Given the description of an element on the screen output the (x, y) to click on. 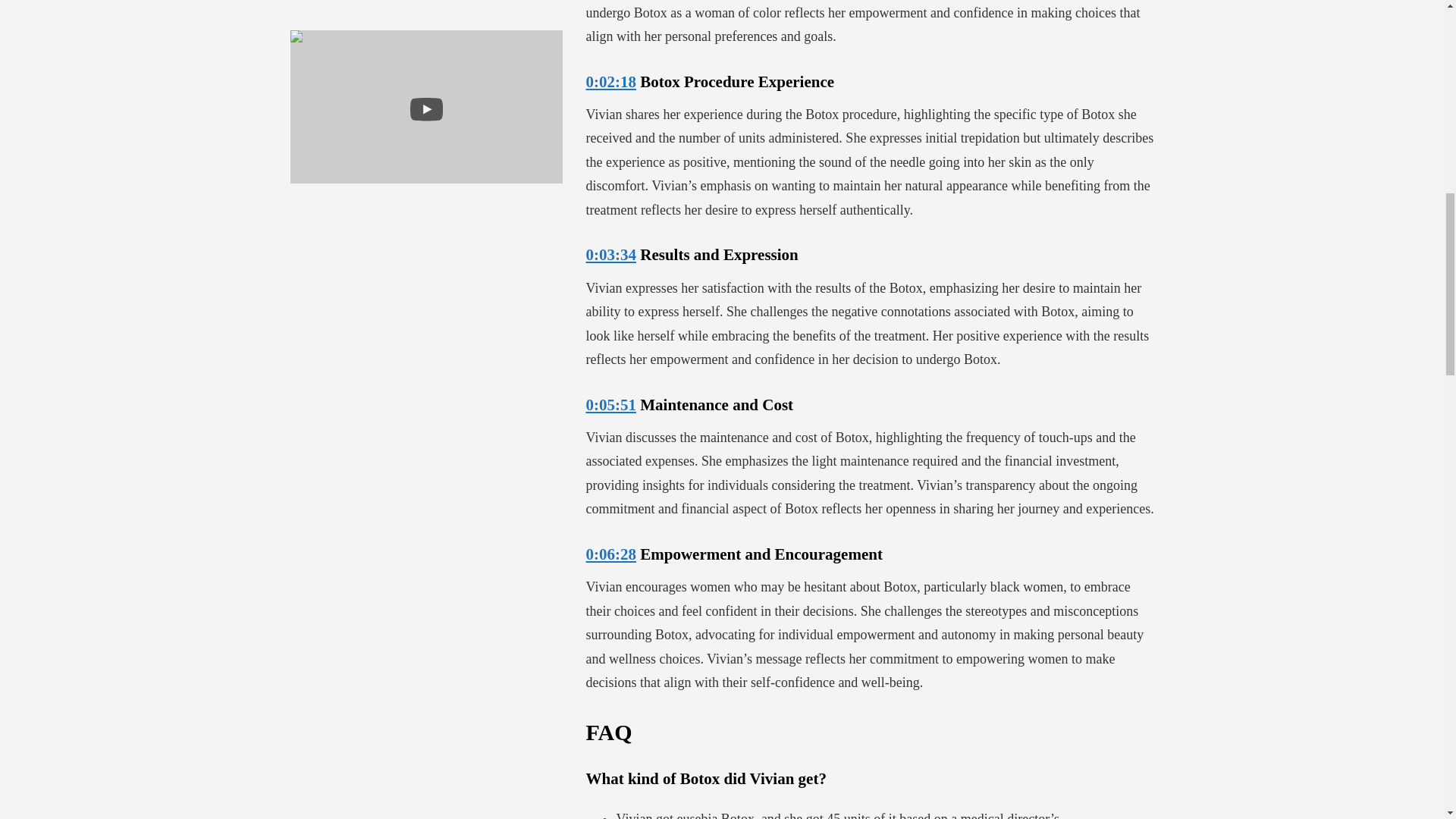
0:05:51 (610, 404)
0:03:34 (610, 254)
0:06:28 (610, 554)
0:02:18 (610, 81)
